Given the description of an element on the screen output the (x, y) to click on. 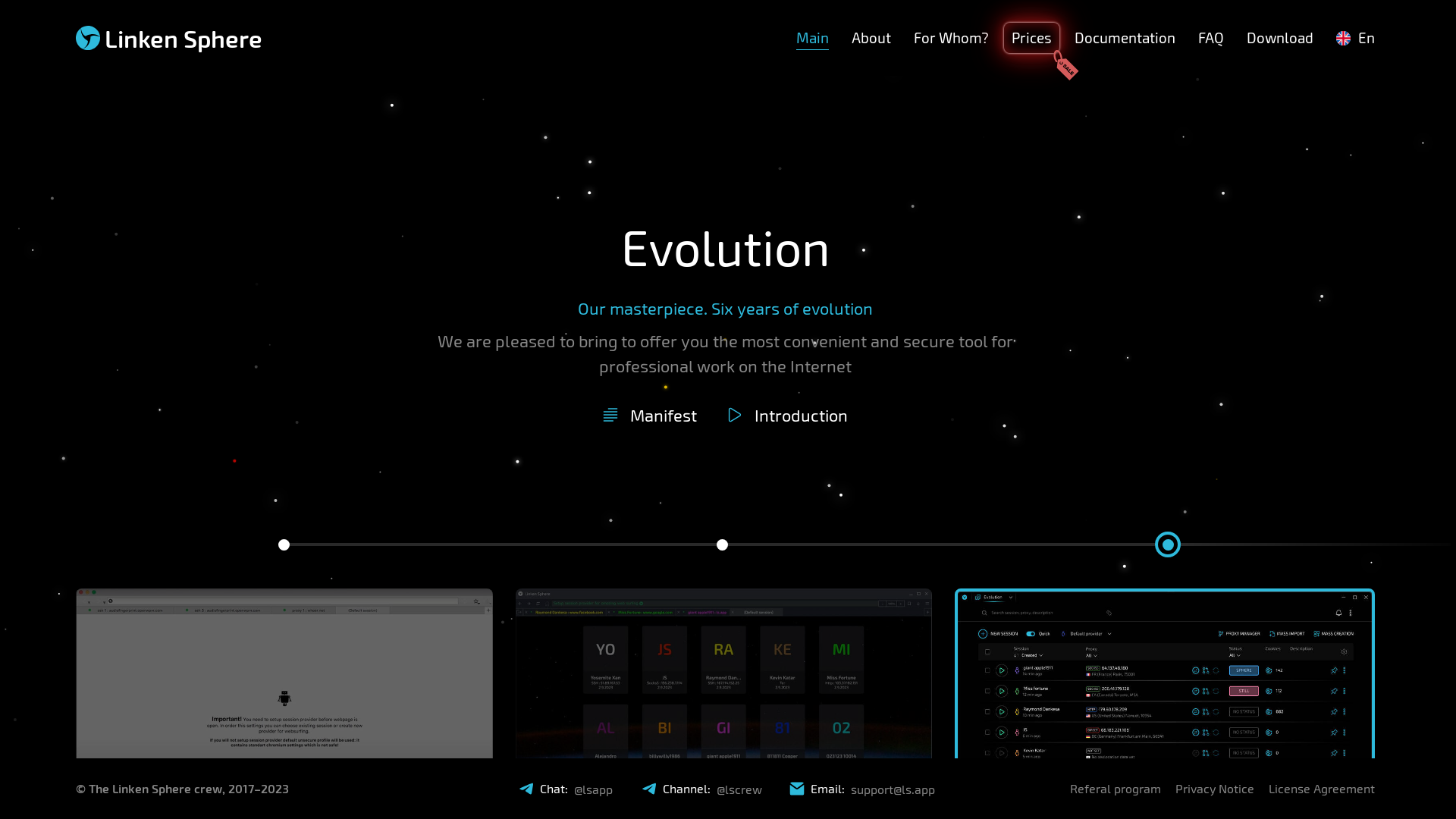
support@ls.app Element type: text (892, 789)
@lscrew Element type: text (739, 789)
@lsapp Element type: text (593, 789)
